Given the description of an element on the screen output the (x, y) to click on. 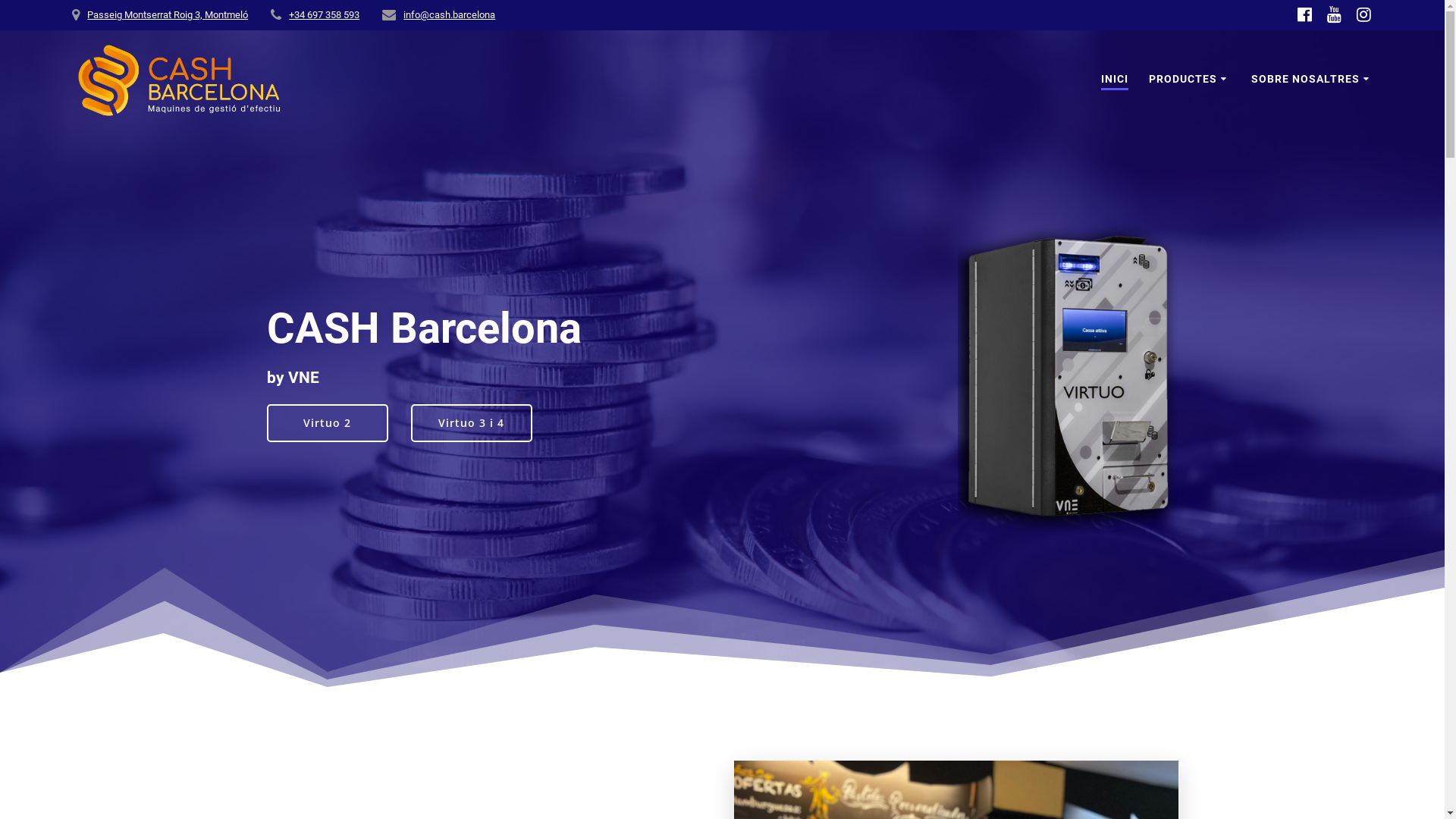
Virtuo 2 Element type: text (327, 422)
info@cash.barcelona Element type: text (449, 14)
INICI Element type: text (1114, 79)
Virtuo 3 i 4 Element type: text (471, 422)
Skip to content Element type: text (0, 0)
SOBRE NOSALTRES Element type: text (1312, 79)
PRODUCTES Element type: text (1189, 79)
+34 697 358 593 Element type: text (323, 14)
